Given the description of an element on the screen output the (x, y) to click on. 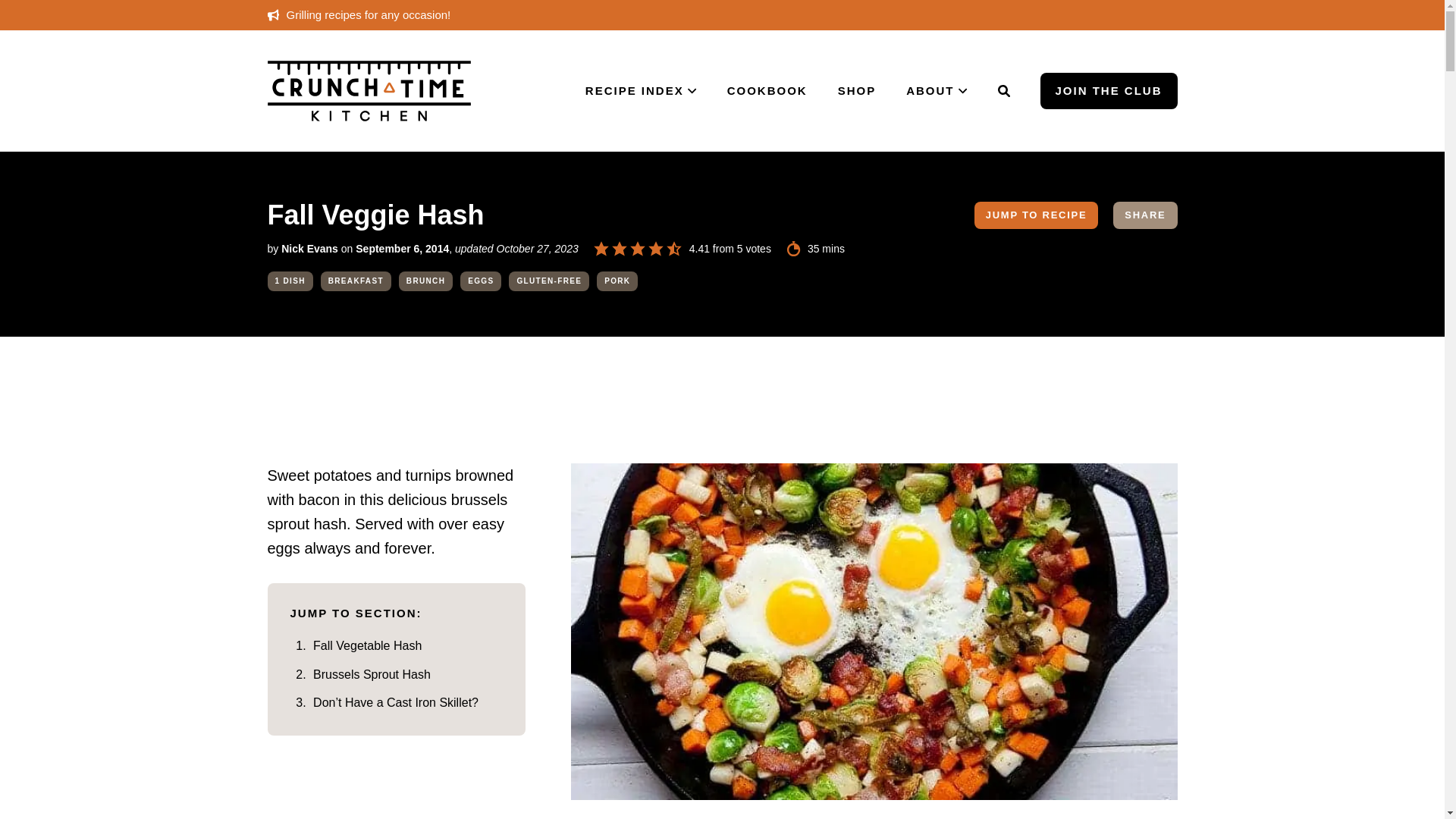
Grilling recipes for any occasion! (357, 14)
RECIPE INDEX (640, 90)
Time (794, 248)
